Given the description of an element on the screen output the (x, y) to click on. 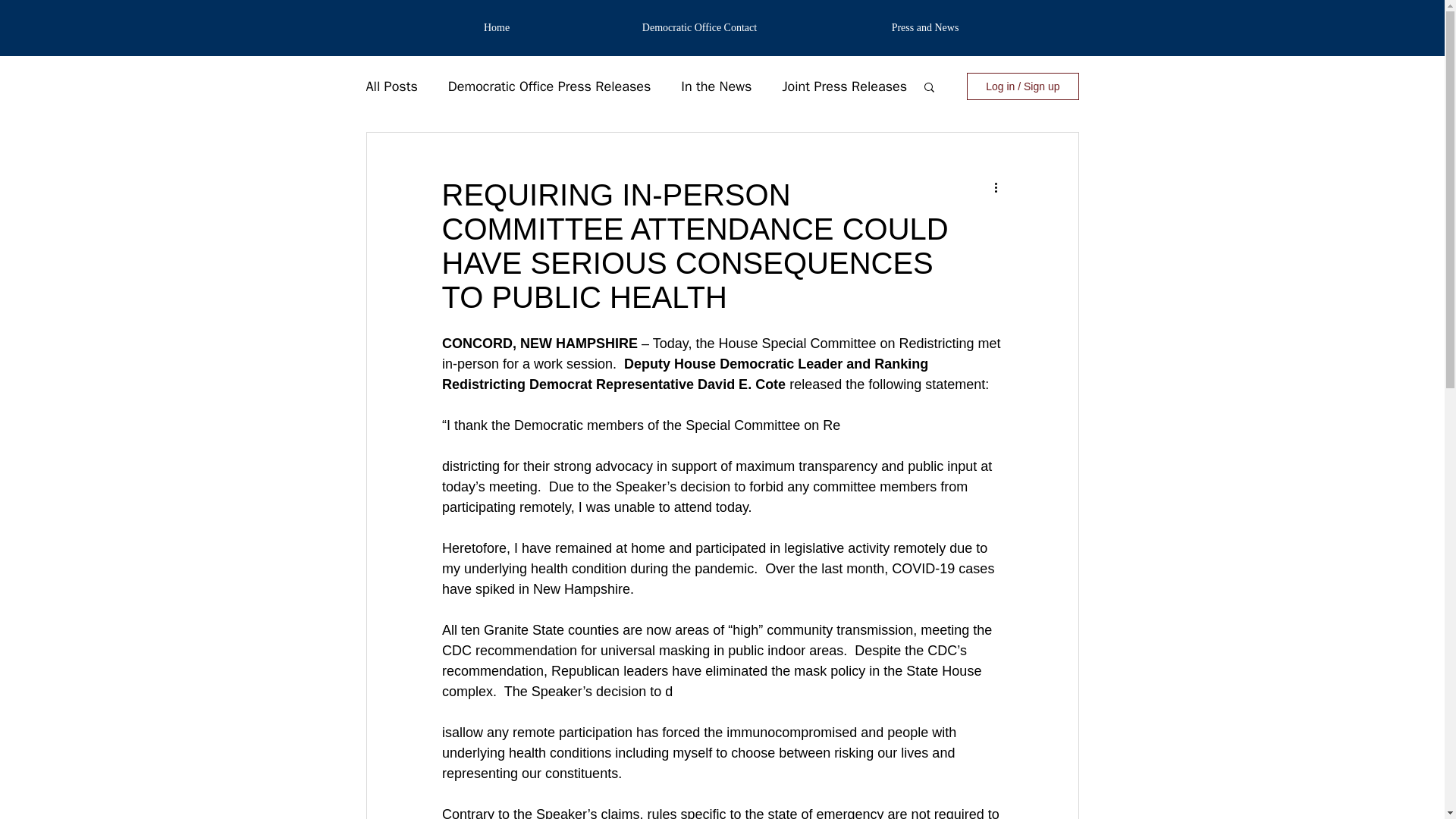
Democratic Office Contact (700, 28)
Joint Press Releases (844, 85)
In the News (716, 85)
Press and News (926, 28)
Home (496, 28)
All Posts (390, 85)
Democratic Office Press Releases (549, 85)
